Given the description of an element on the screen output the (x, y) to click on. 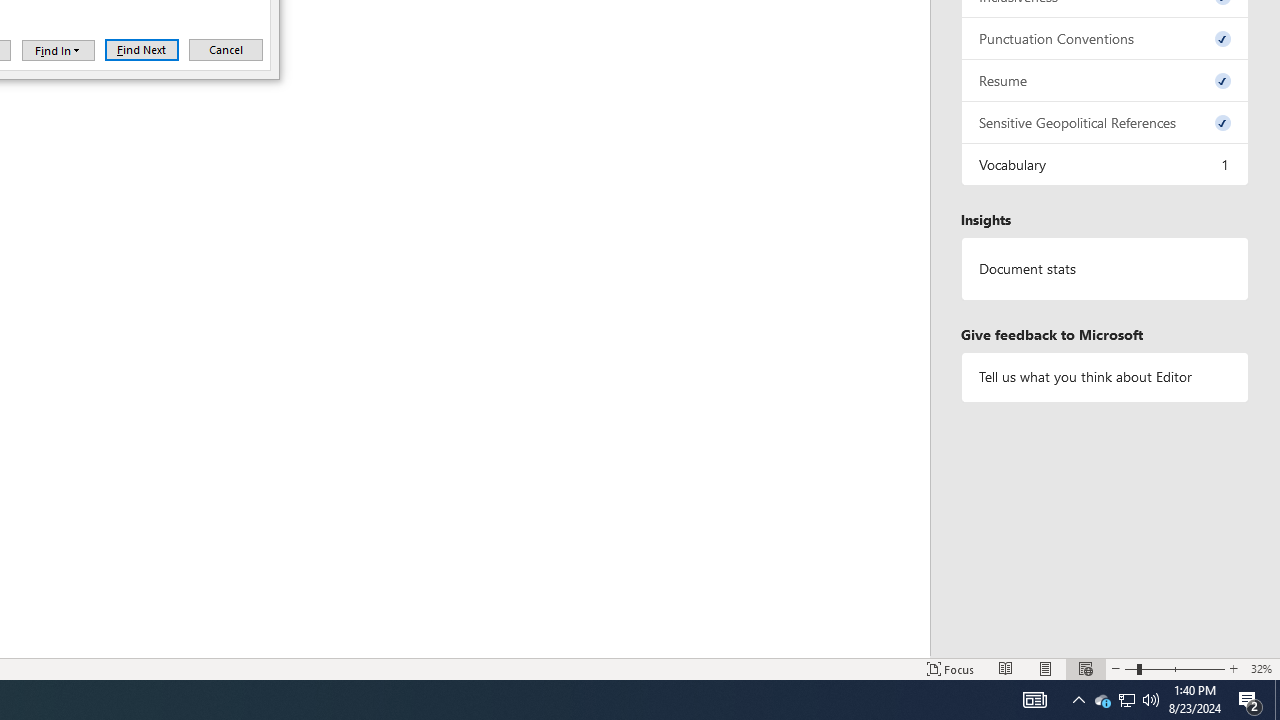
MSO Generic Control Container (1126, 699)
User Promoted Notification Area (58, 49)
Q2790: 100% (1126, 699)
Find In (1151, 699)
Find Next (58, 49)
AutomationID: 4105 (141, 49)
Cancel (1034, 699)
Notification Chevron (225, 49)
Action Center, 2 new notifications (1078, 699)
Show desktop (1102, 699)
